Given the description of an element on the screen output the (x, y) to click on. 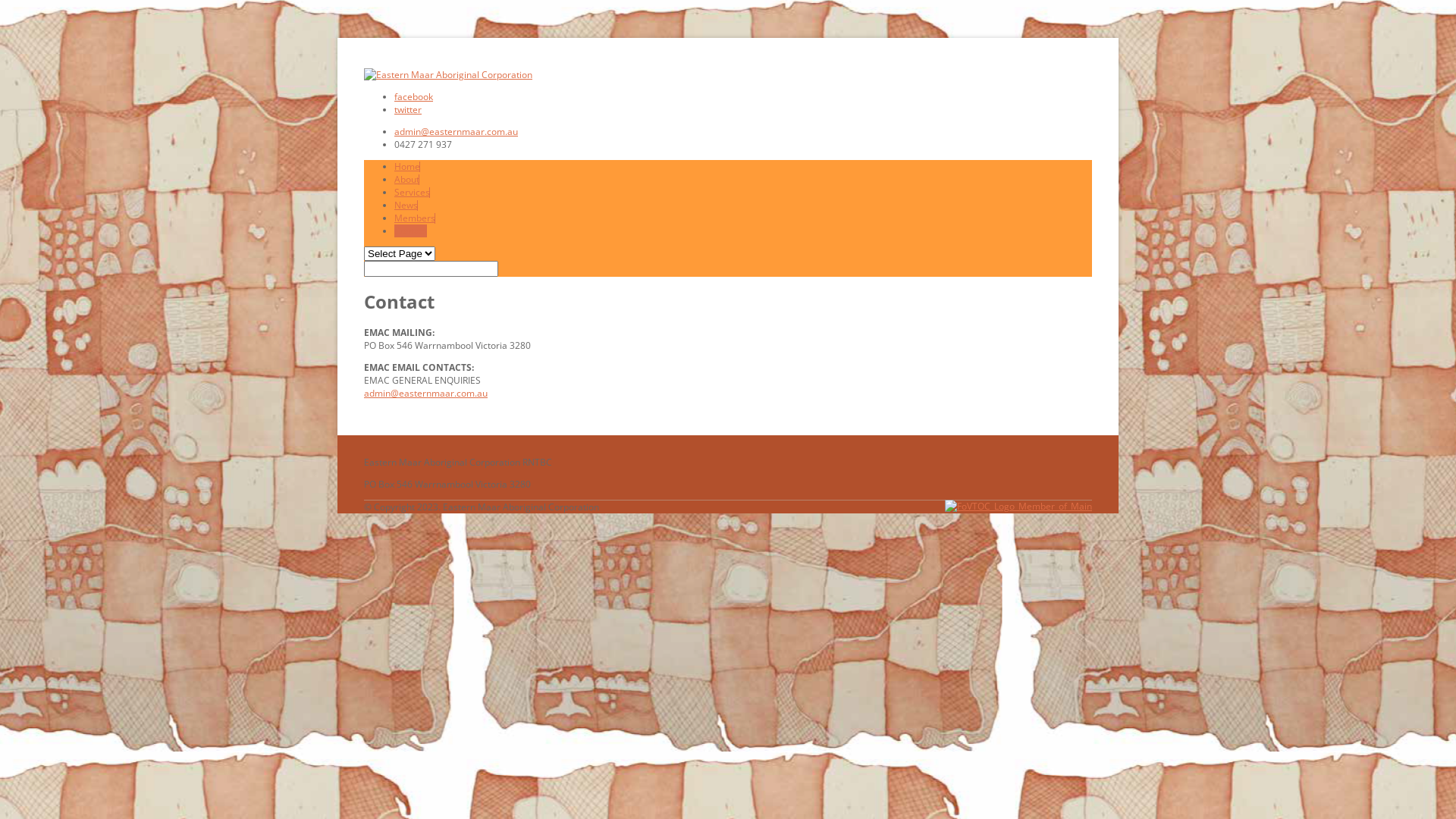
About Element type: text (406, 178)
Contact Element type: text (410, 230)
Eastern Maar Aboriginal Corporation Element type: hover (448, 74)
admin@easternmaar.com.au Element type: text (425, 392)
twitter Element type: text (407, 109)
facebook Element type: text (413, 96)
News Element type: text (405, 204)
Services Element type: text (411, 191)
Home Element type: text (407, 166)
www.fovtoc.com.au Element type: hover (1018, 505)
Members Element type: text (414, 217)
admin@easternmaar.com.au Element type: text (455, 131)
